Given the description of an element on the screen output the (x, y) to click on. 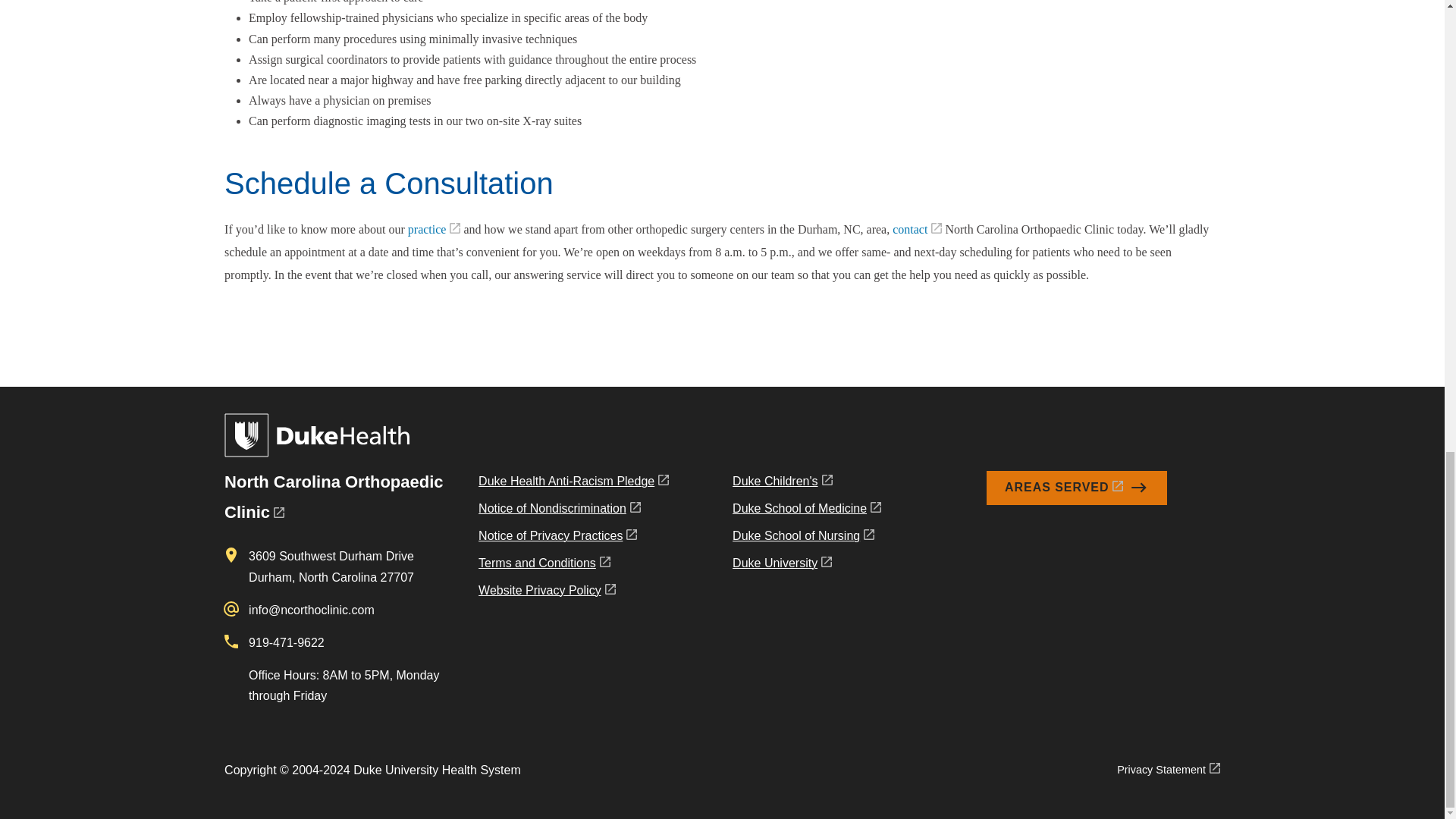
Duke Children's (806, 483)
practice (434, 228)
North Carolina Orthopaedic Clinic (333, 496)
919-471-9622 (286, 642)
Privacy Statement (1168, 769)
Duke School of Medicine (806, 511)
Duke School of Nursing (806, 538)
contact (917, 228)
Notice of Nondiscrimination (573, 511)
Duke Health Anti-Racism Pledge (573, 483)
Notice of Privacy Practices (573, 538)
Duke University (806, 565)
Website Privacy Policy (573, 593)
AREAS SERVED (1077, 488)
Terms and Conditions (573, 565)
